Given the description of an element on the screen output the (x, y) to click on. 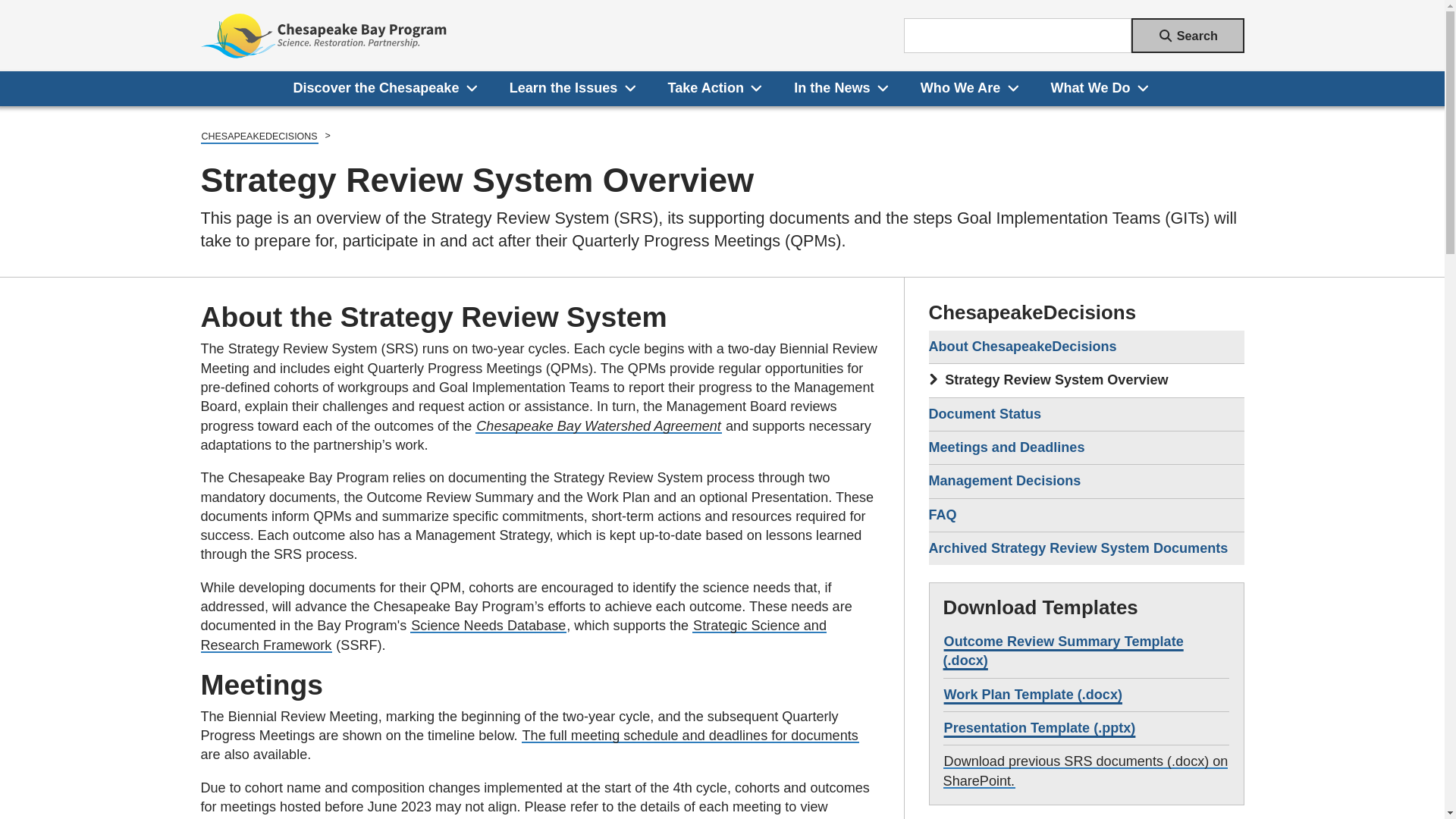
Management Decisions (1085, 480)
Science Needs Database (488, 625)
Search (1187, 35)
CHESAPEAKEDECISIONS (258, 137)
About ChesapeakeDecisions (1085, 346)
Document Status (1085, 413)
FAQ (1085, 514)
Archived Strategy Review System Documents (1085, 548)
Go to CBPO Sharepoint in new tab. (1085, 770)
Strategic Science and Research Framework (512, 634)
